Given the description of an element on the screen output the (x, y) to click on. 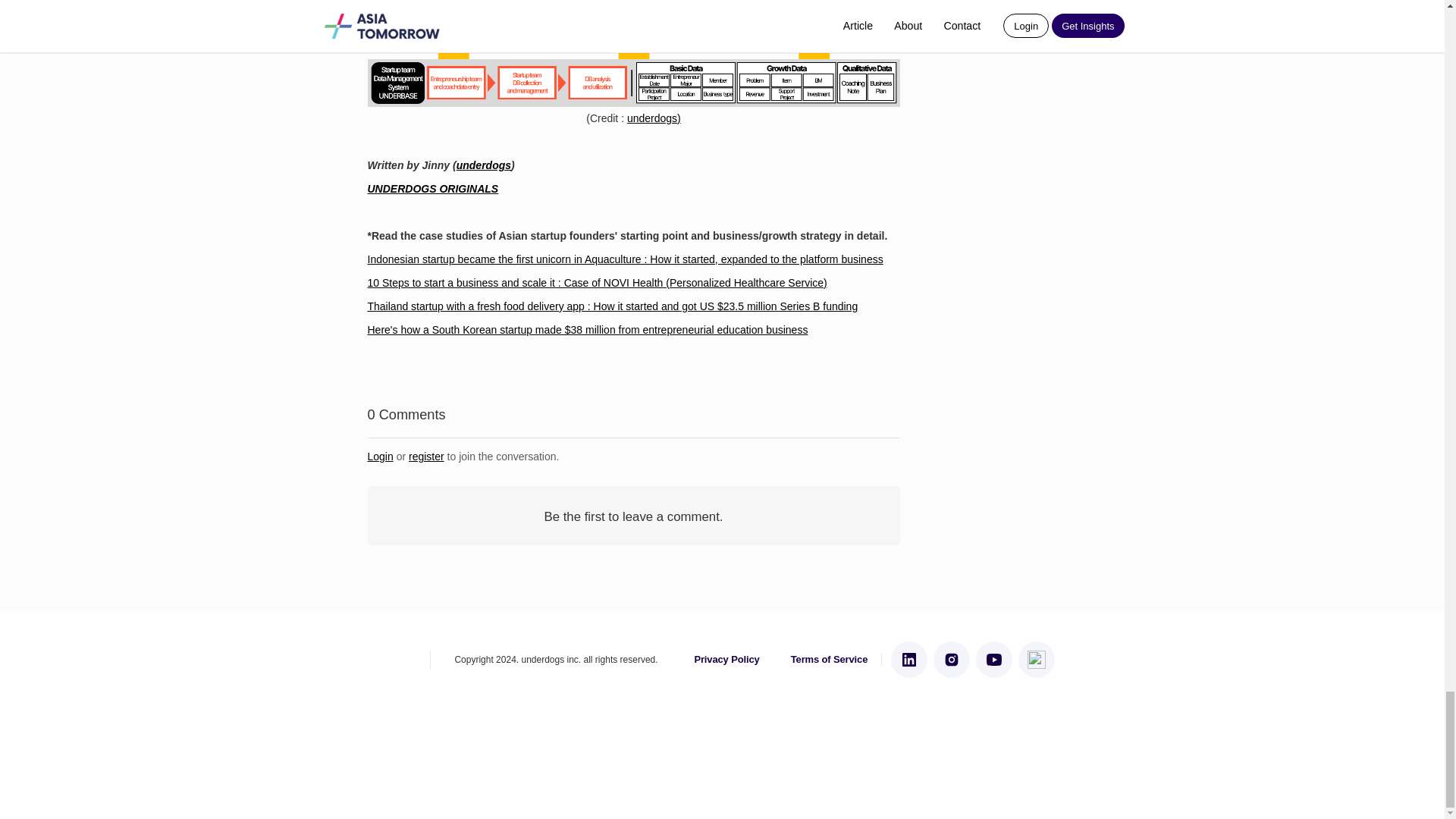
UNDERDOGS ORIGINALS (431, 188)
Login (379, 456)
underdogs (484, 164)
register (426, 456)
